Given the description of an element on the screen output the (x, y) to click on. 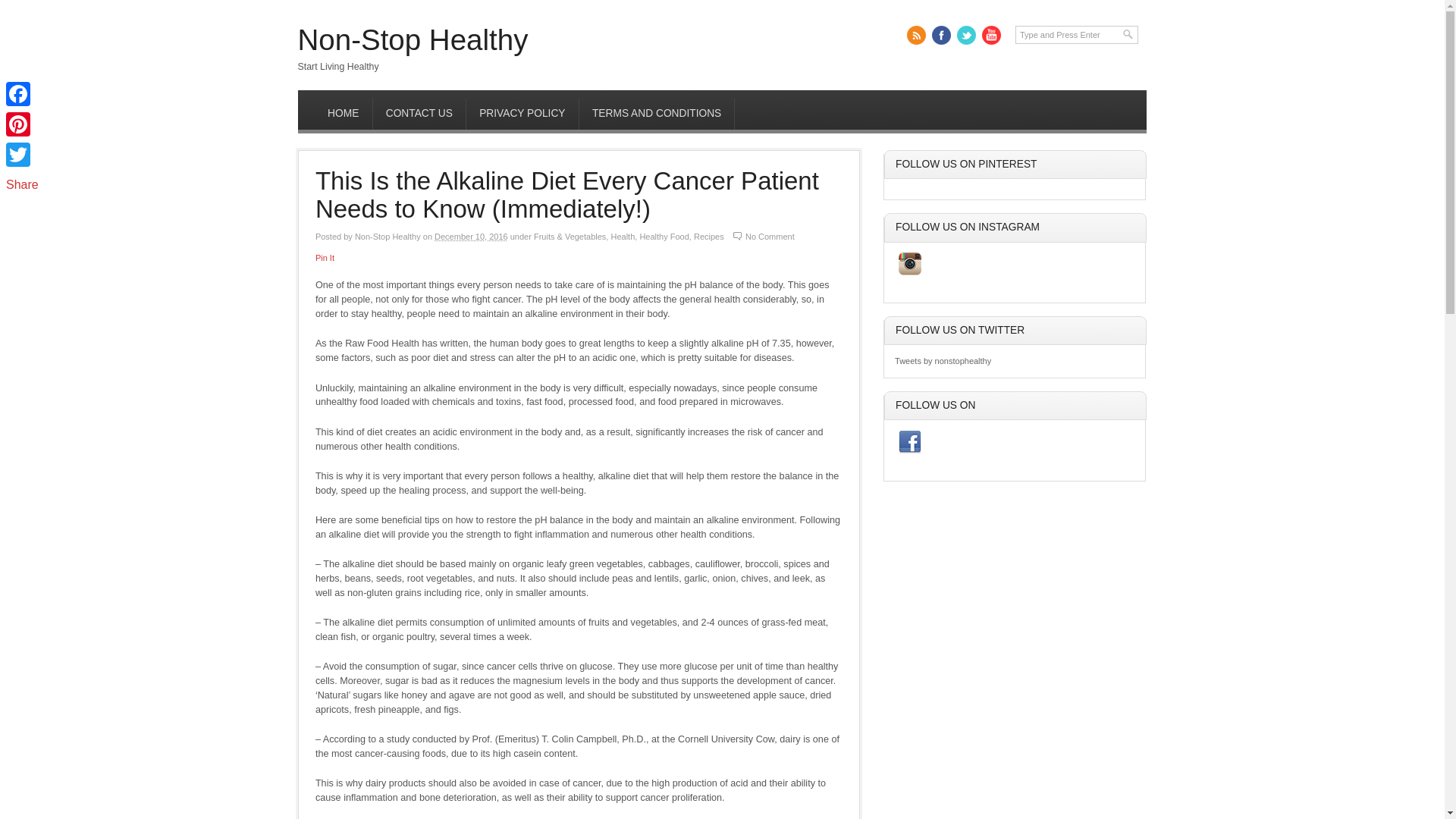
Posts by Non-Stop Healthy (387, 235)
Like us on Facebook (941, 35)
No Comment (769, 235)
Non-Stop Healthy (387, 235)
Pin It (324, 257)
CONTACT US (418, 113)
Non-Stop Healthy (412, 39)
Subscribe to rss feed (915, 35)
TERMS AND CONDITIONS (657, 113)
Recipes (708, 235)
Healthy Food (663, 235)
HOME (343, 113)
PRIVACY POLICY (522, 113)
Type and Press Enter (1076, 34)
